Given the description of an element on the screen output the (x, y) to click on. 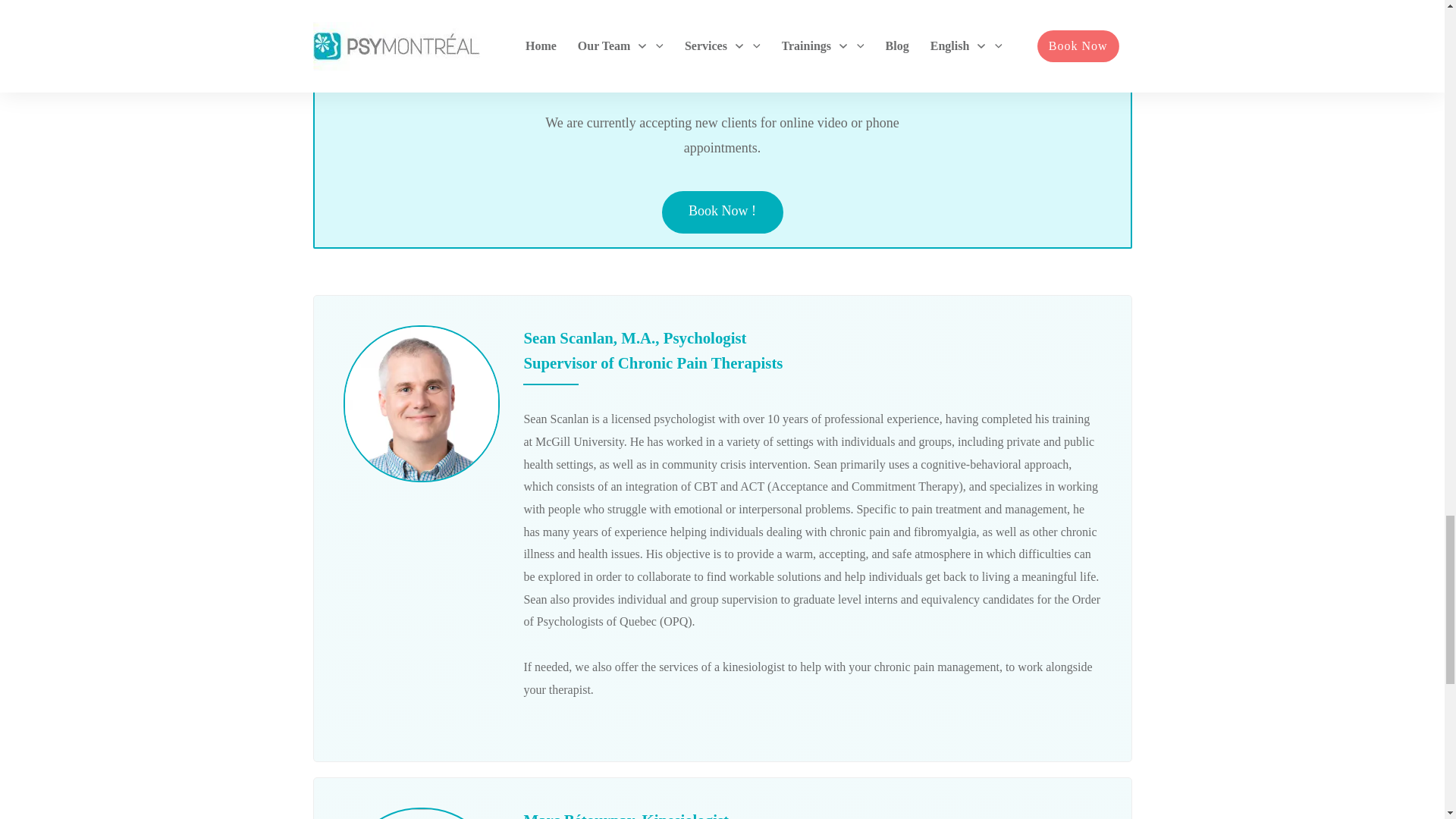
Book Now ! (722, 211)
